Given the description of an element on the screen output the (x, y) to click on. 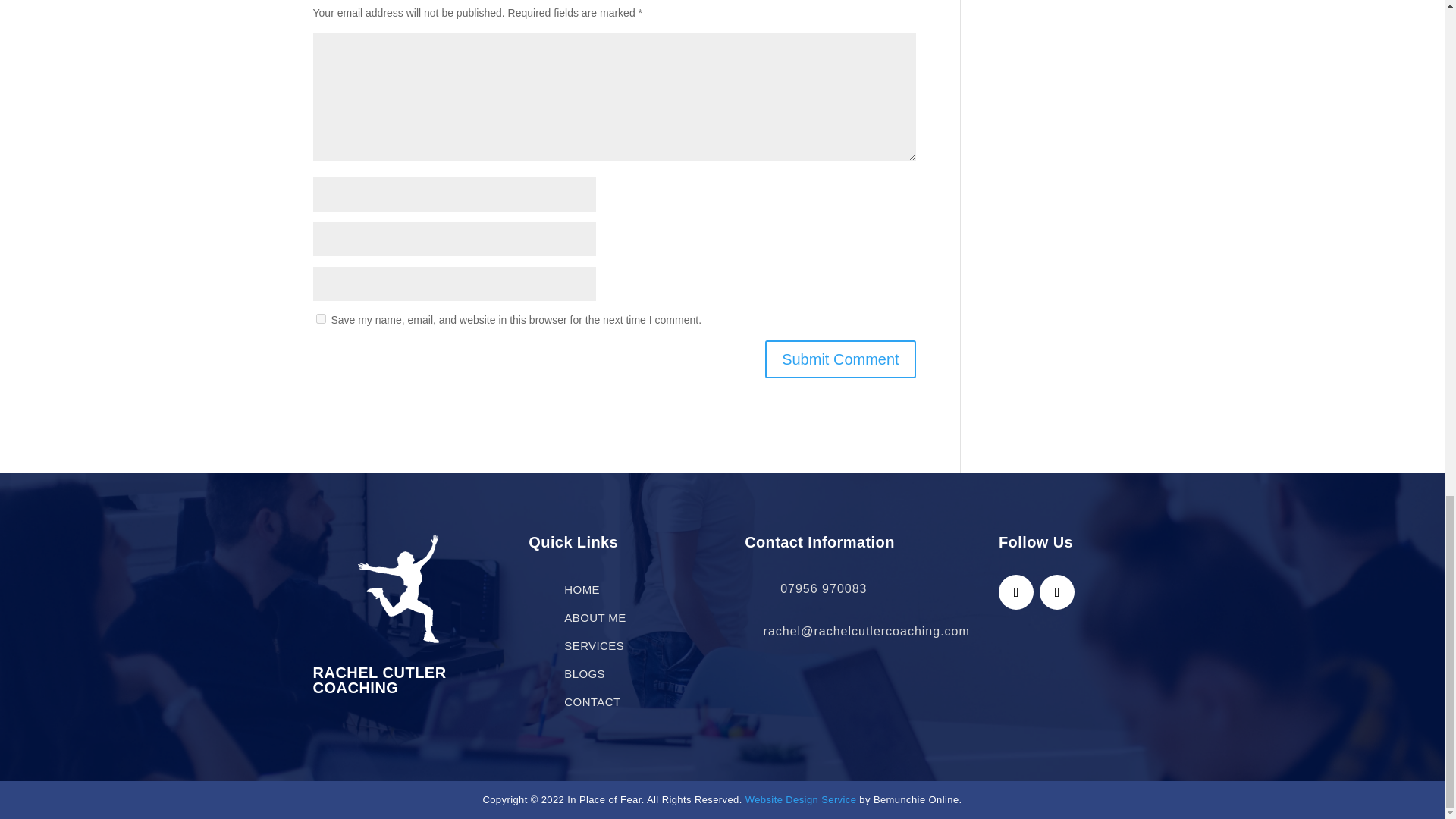
Follow on LinkedIn (1056, 591)
07956 970083 (823, 588)
yes (319, 318)
Submit Comment (840, 359)
CONTACT (592, 701)
Submit Comment (840, 359)
Follow on Instagram (1015, 591)
Website Design Service (801, 799)
BLOGS (584, 673)
ABOUT ME (595, 617)
SERVICES (594, 645)
HOME (581, 589)
